Given the description of an element on the screen output the (x, y) to click on. 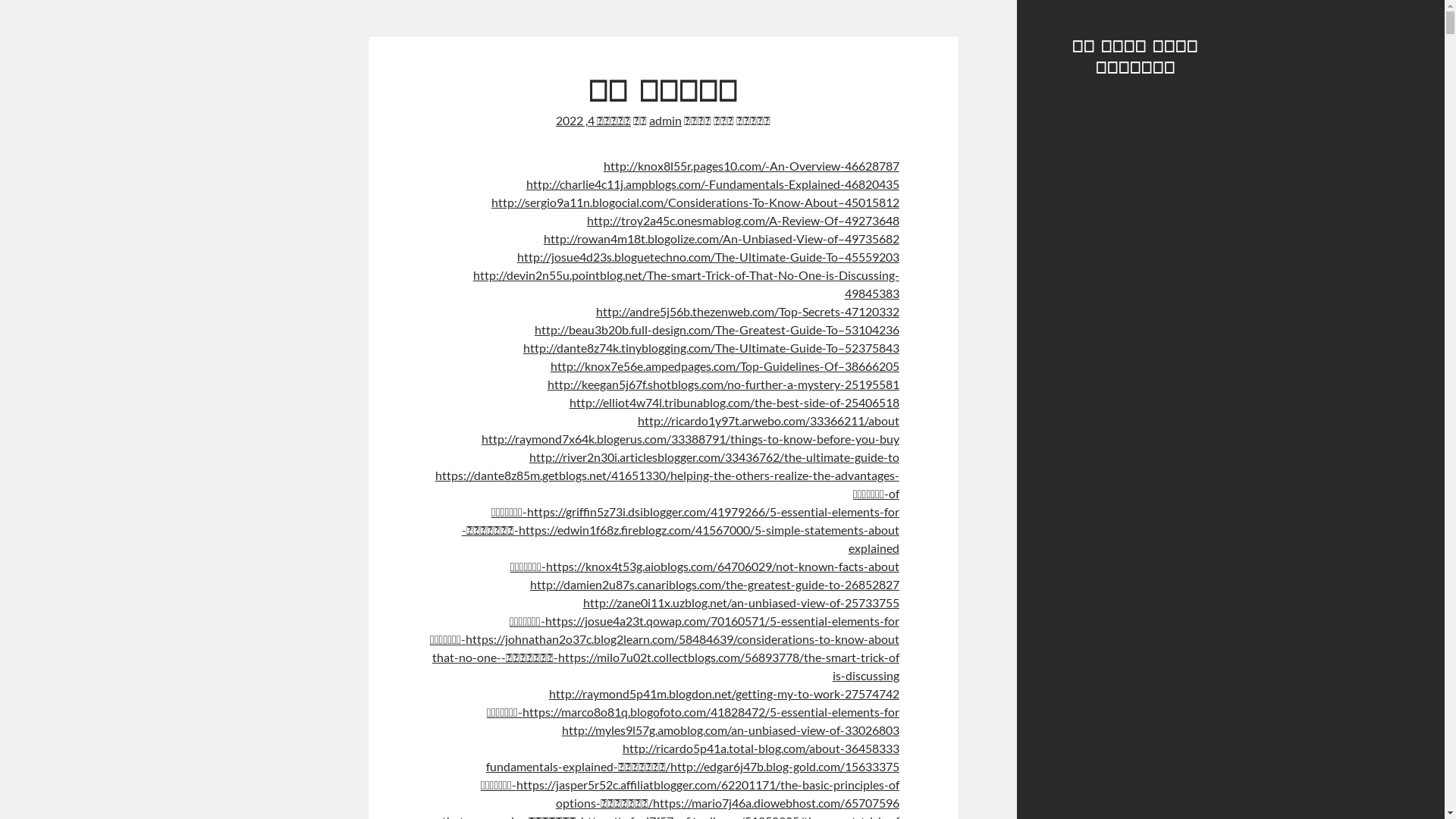
http://knox8l55r.pages10.com/-An-Overview-46628787 Element type: text (751, 165)
http://myles9l57g.amoblog.com/an-unbiased-view-of-33026803 Element type: text (730, 729)
http://elliot4w74l.tribunablog.com/the-best-side-of-25406518 Element type: text (734, 402)
http://raymond5p41m.blogdon.net/getting-my-to-work-27574742 Element type: text (724, 693)
http://ricardo5p41a.total-blog.com/about-36458333 Element type: text (760, 747)
http://andre5j56b.thezenweb.com/Top-Secrets-47120332 Element type: text (747, 311)
admin Element type: text (665, 119)
http://ricardo1y97t.arwebo.com/33366211/about Element type: text (768, 420)
http://zane0i11x.uzblog.net/an-unbiased-view-of-25733755 Element type: text (741, 602)
